Given the description of an element on the screen output the (x, y) to click on. 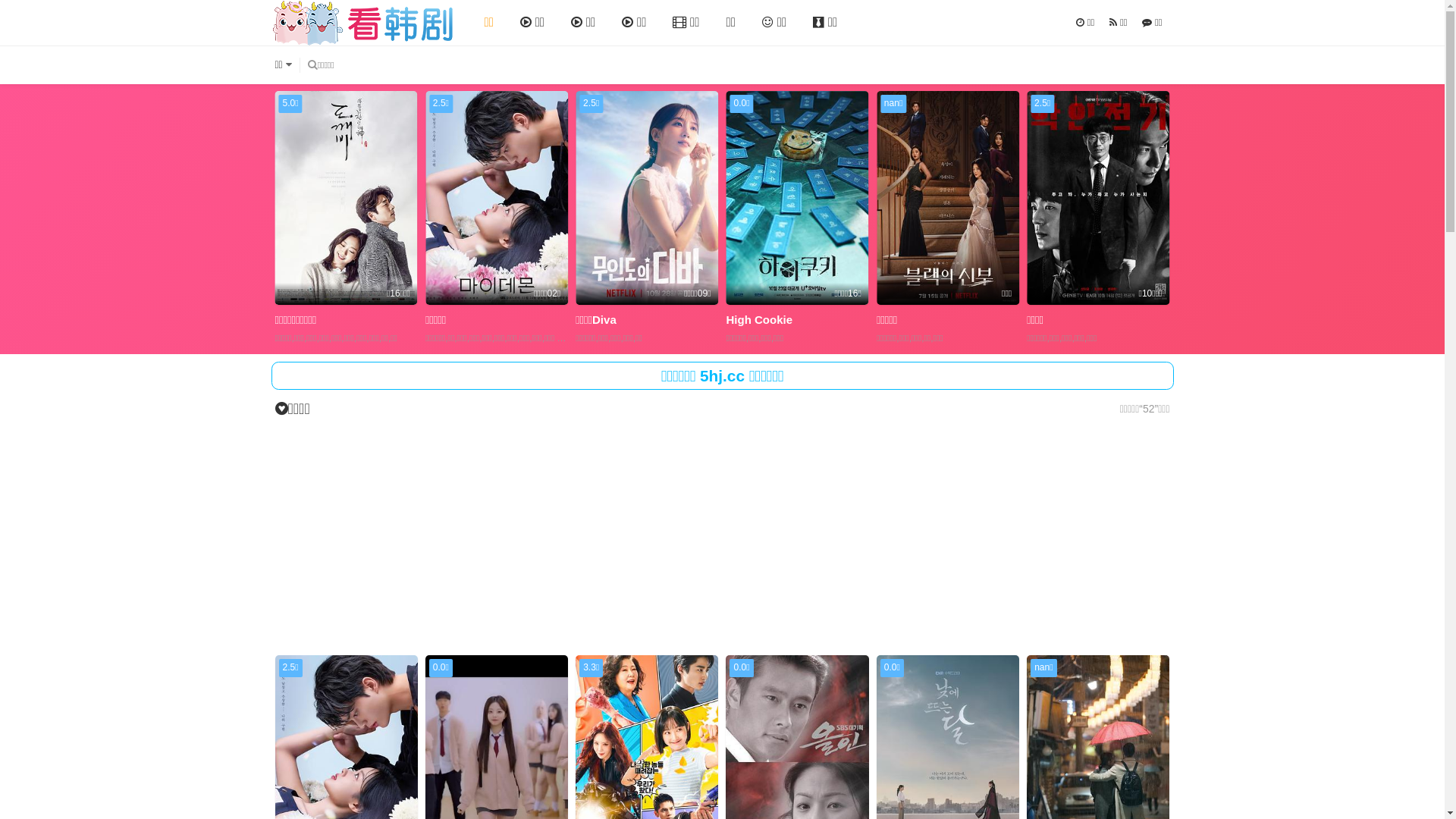
Advertisement Element type: hover (722, 537)
